Given the description of an element on the screen output the (x, y) to click on. 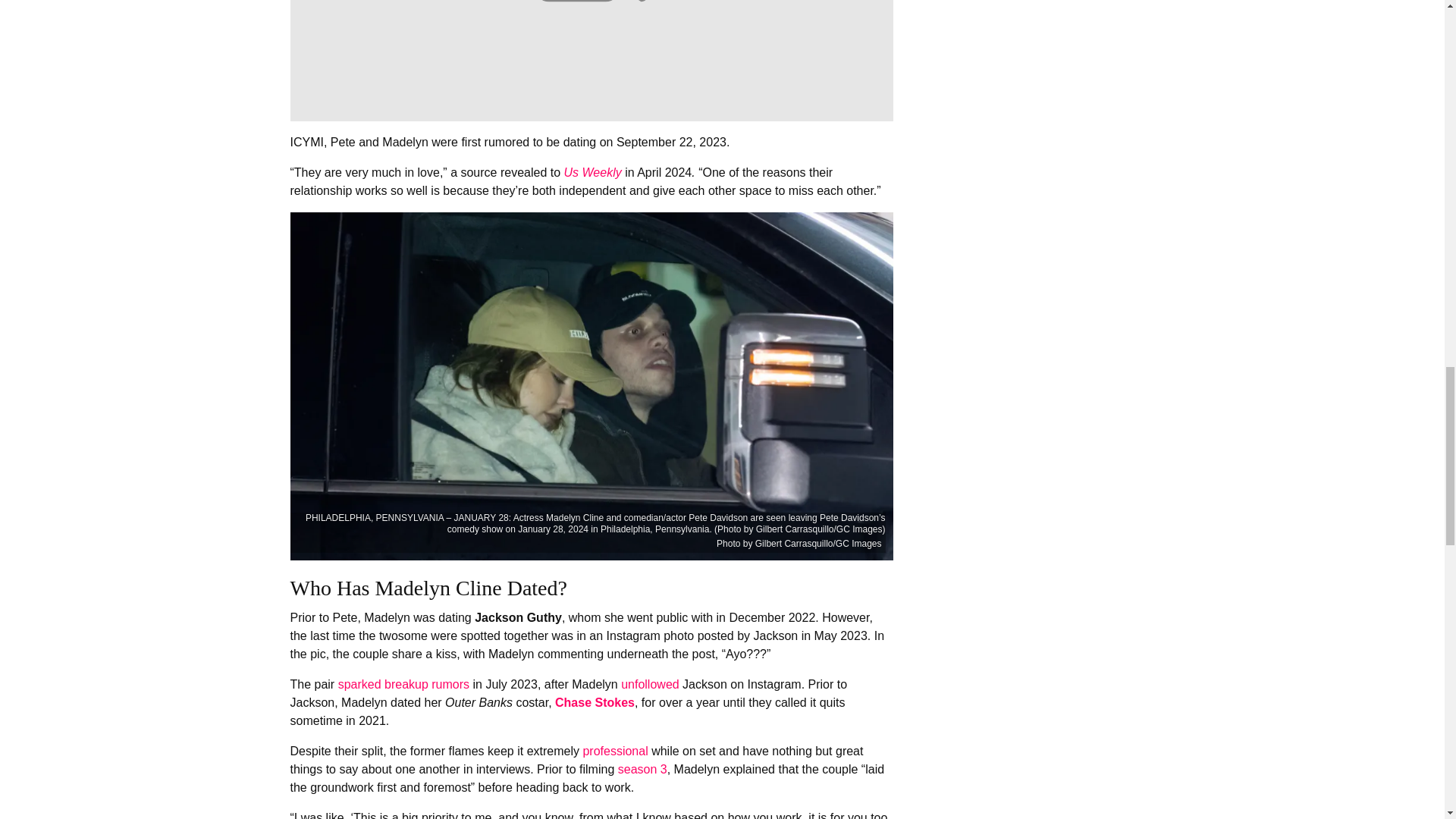
season 3 (641, 768)
Us Weekly (592, 172)
Chase Stokes (594, 702)
professional (614, 750)
sparked breakup rumors (402, 684)
unfollowed (650, 684)
